Given the description of an element on the screen output the (x, y) to click on. 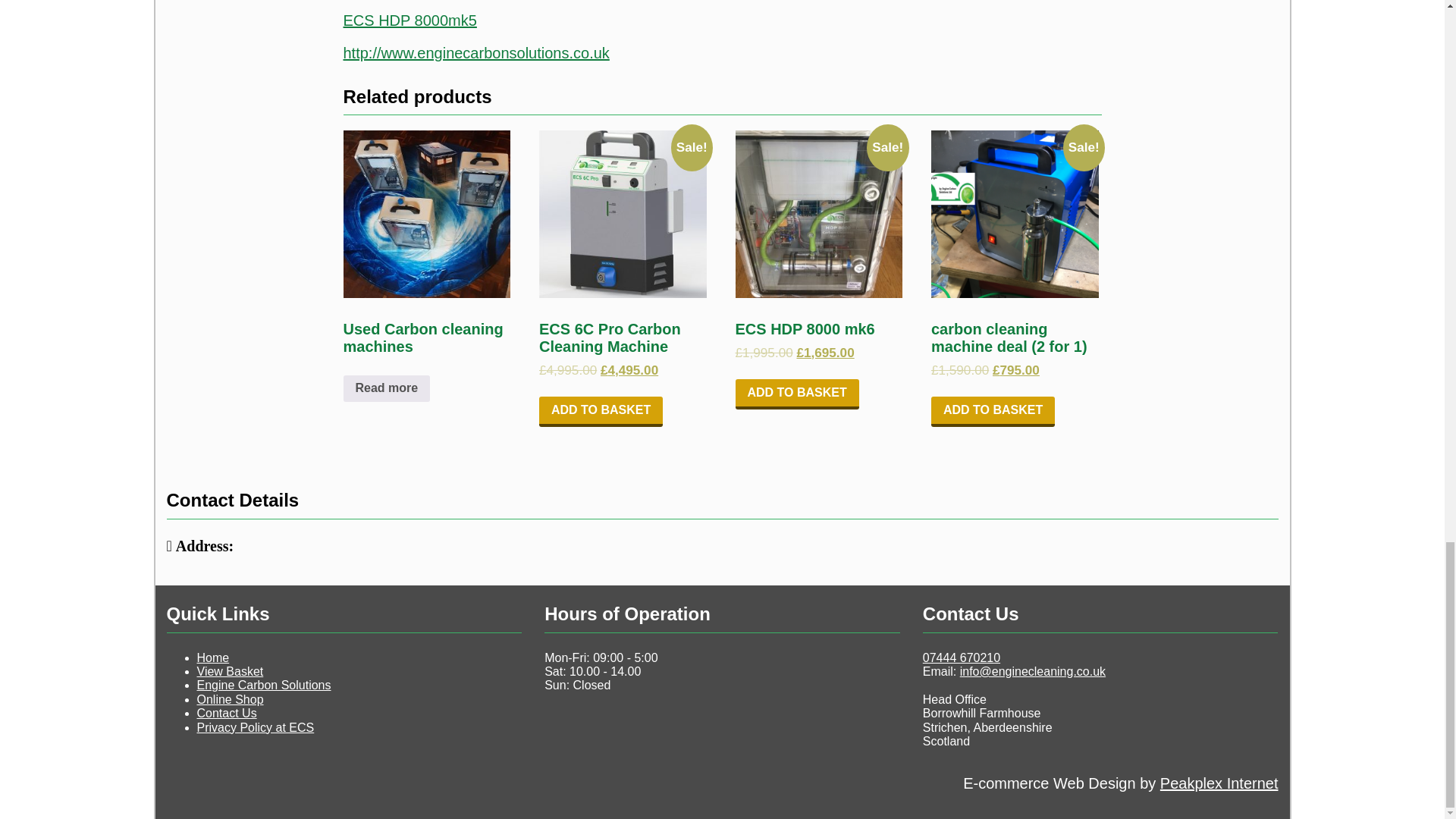
ADD TO BASKET (992, 411)
Home (213, 657)
Call Engine Carbon Solutions (961, 657)
Read more (385, 388)
ADD TO BASKET (600, 411)
View Basket (229, 671)
Contact Us (226, 712)
ADD TO BASKET (797, 394)
Online Shop (229, 698)
Email Engine Carbon Solutions (1032, 671)
